Given the description of an element on the screen output the (x, y) to click on. 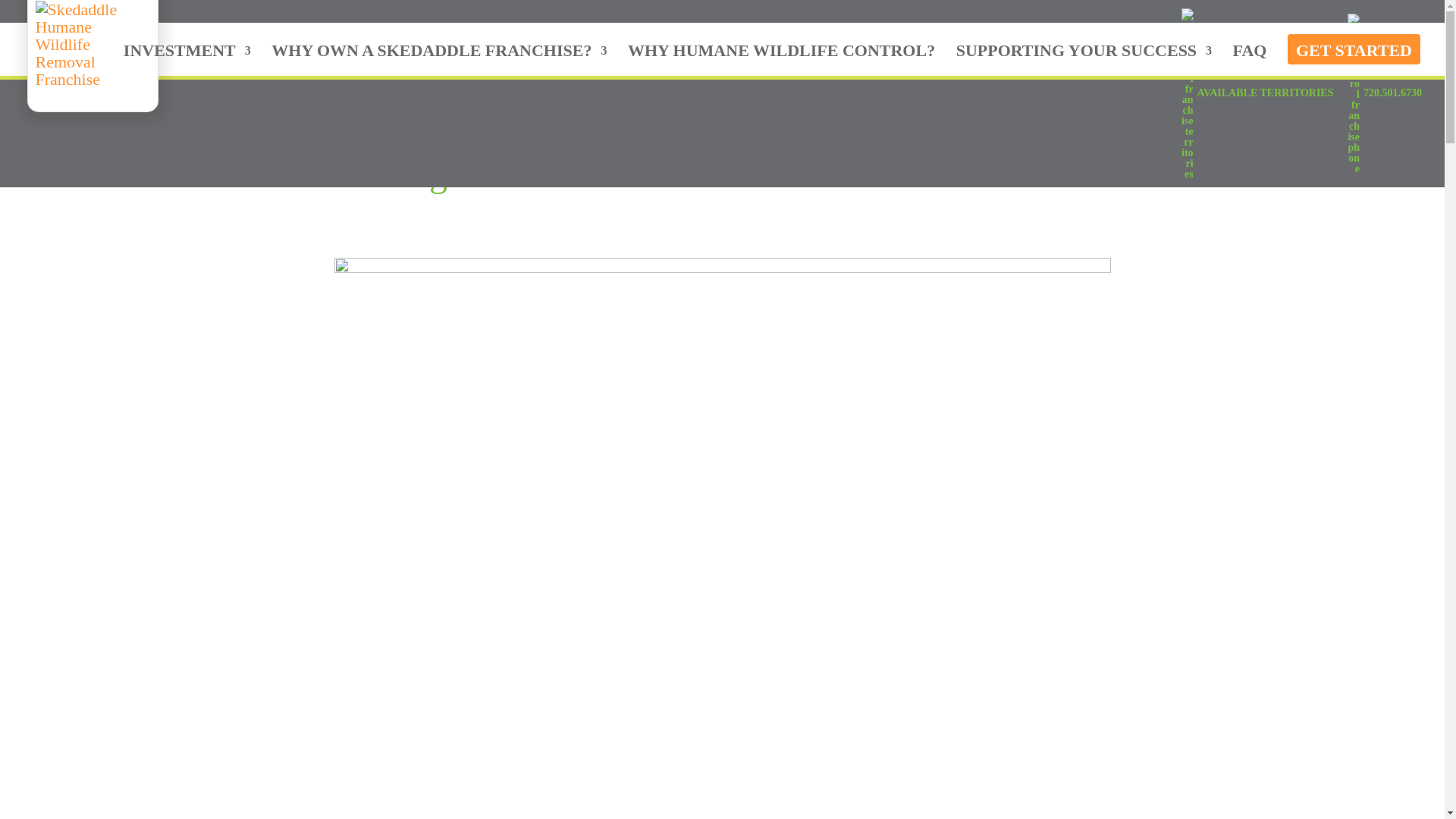
FAQ (1249, 56)
WHY OWN A SKEDADDLE FRANCHISE? (438, 56)
INVESTMENT (186, 56)
GET STARTED (1354, 55)
WHY HUMANE WILDLIFE CONTROL? (780, 56)
SUPPORTING YOUR SUCCESS (1083, 56)
